Given the description of an element on the screen output the (x, y) to click on. 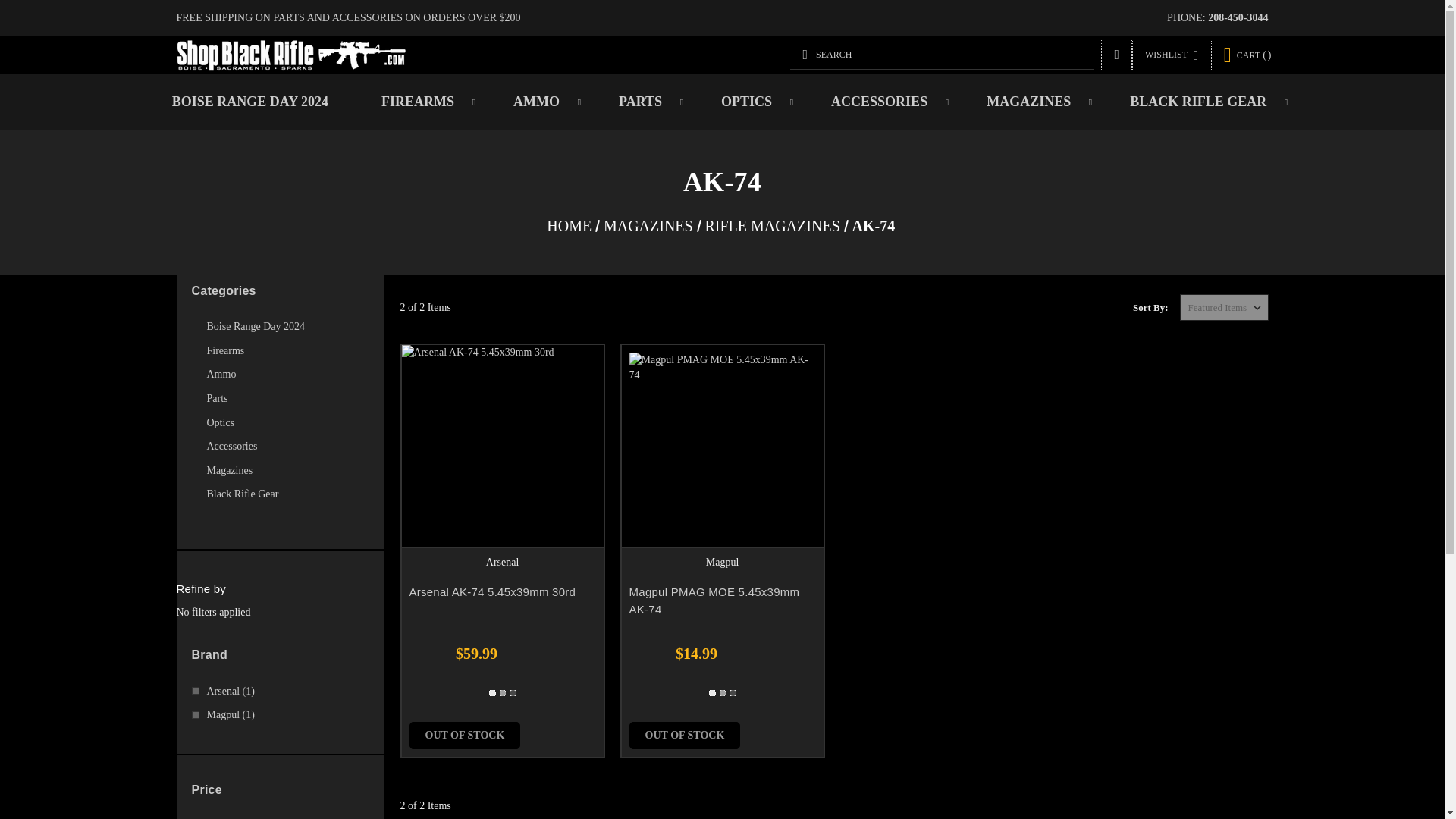
208-450-3044 (1238, 17)
WISHLIST (1171, 54)
Firearms (286, 351)
Shop Black Rifle (291, 55)
FIREARMS (420, 101)
SEARCH (941, 54)
CART (1247, 54)
Boise Range Day 2024 (279, 326)
BOISE RANGE DAY 2024 (250, 101)
